Given the description of an element on the screen output the (x, y) to click on. 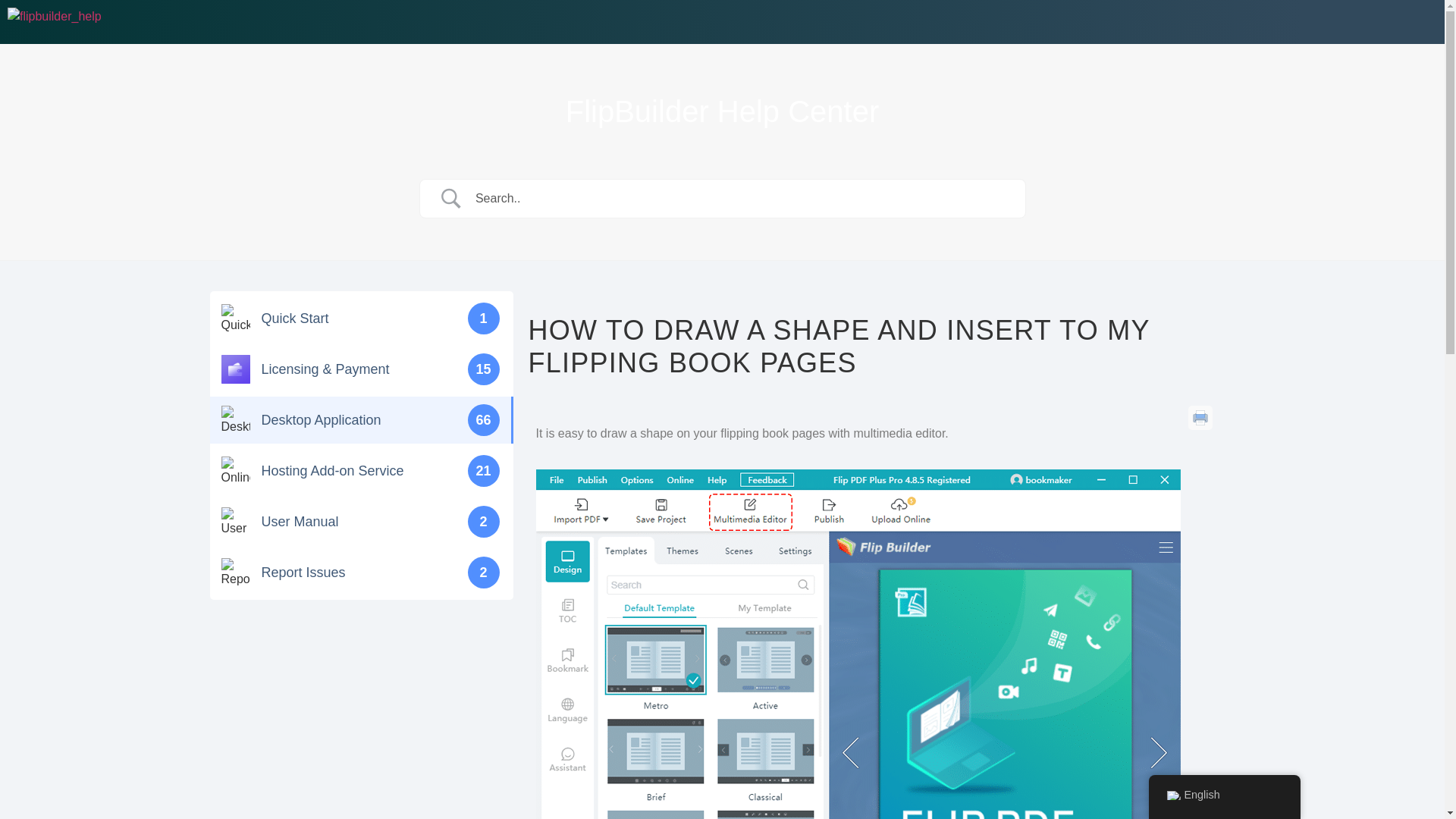
English (1172, 795)
